Given the description of an element on the screen output the (x, y) to click on. 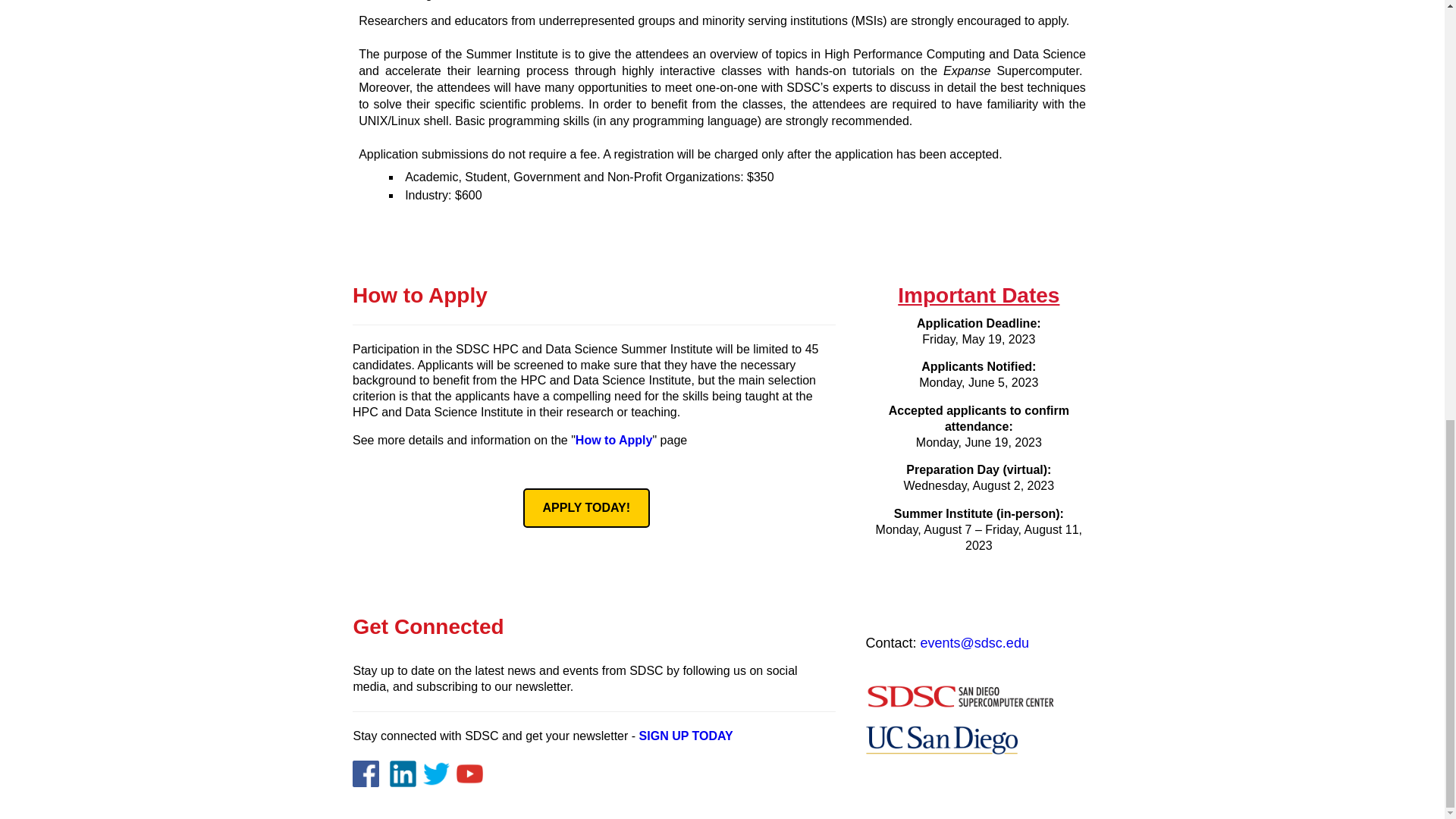
How to Apply (613, 440)
SIGN UP TODAY (686, 735)
APPLY TODAY! (586, 507)
